Given the description of an element on the screen output the (x, y) to click on. 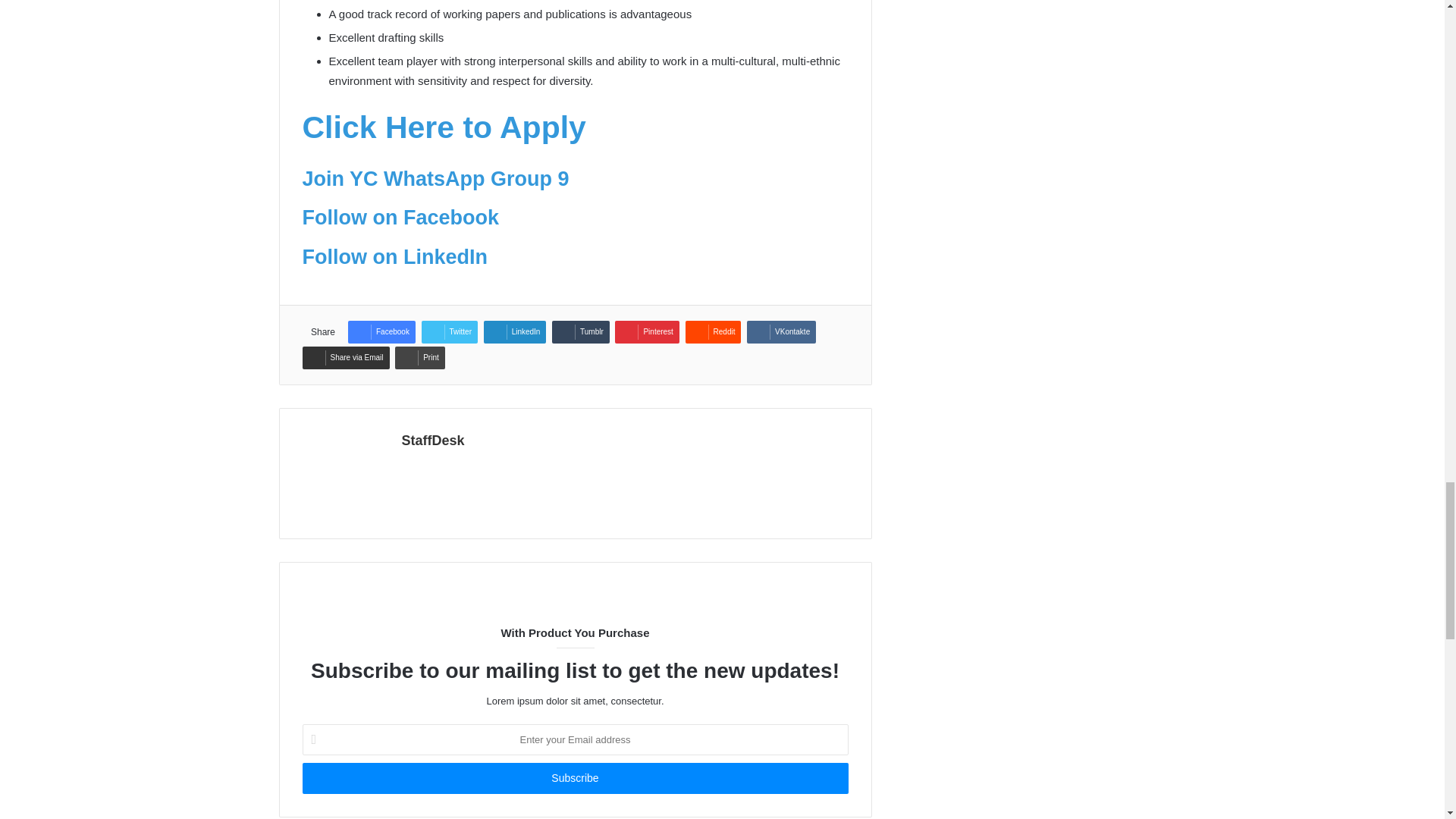
Tumblr (580, 332)
Click Here to Apply (443, 126)
Twitter (449, 332)
Subscribe (574, 777)
Follow on Facebook (400, 217)
Join YC WhatsApp Group 9 (435, 178)
Follow on LinkedIn (393, 256)
LinkedIn (515, 332)
Facebook (380, 332)
